Given the description of an element on the screen output the (x, y) to click on. 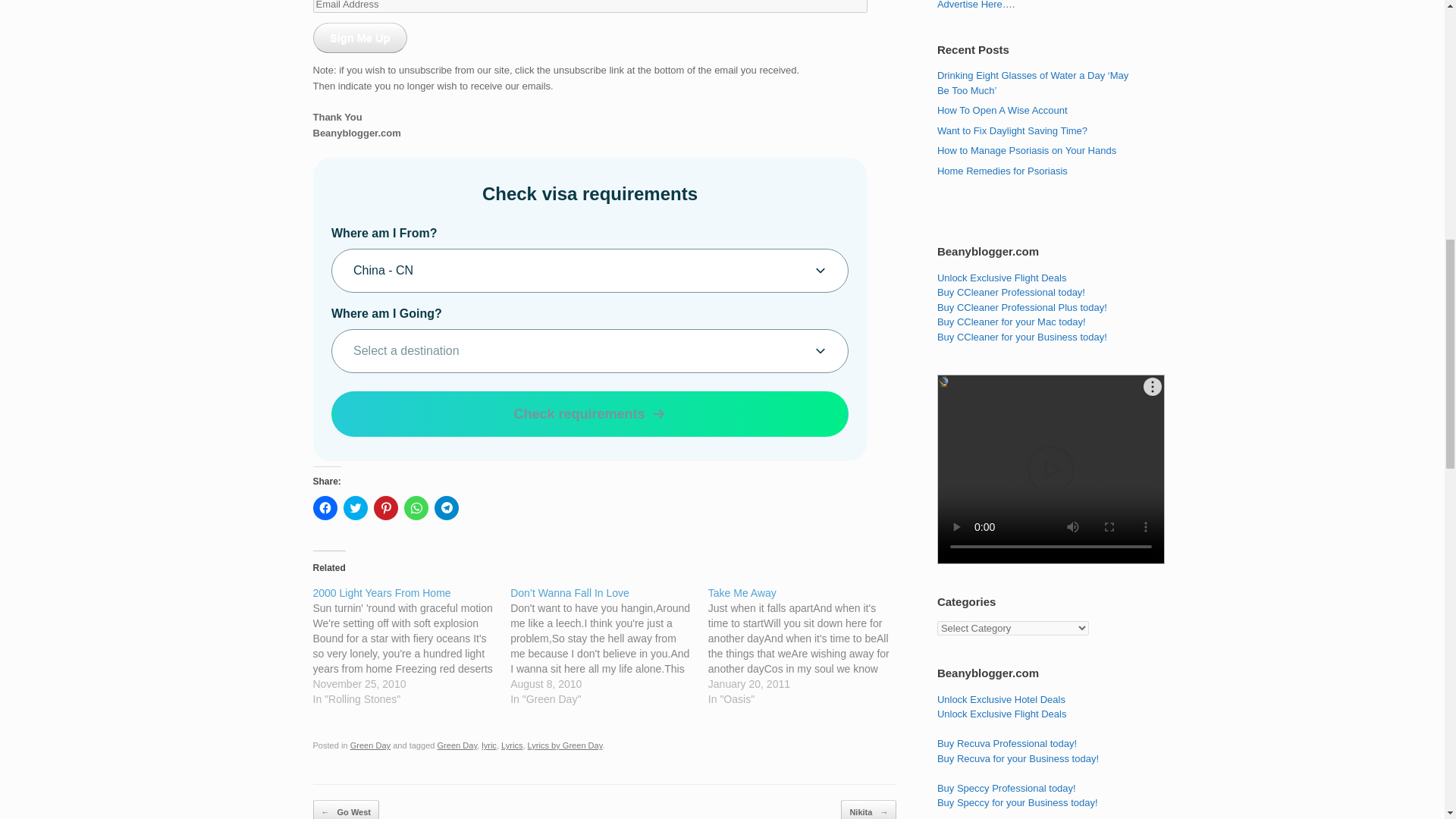
Click to share on Twitter (354, 508)
2000 Light Years From Home (412, 645)
Click to share on Telegram (445, 508)
Take Me Away (806, 645)
Sign Me Up (360, 37)
Click to share on Facebook (324, 508)
Click to share on WhatsApp (415, 508)
Click to share on Pinterest (384, 508)
2000 Light Years From Home (381, 592)
